Given the description of an element on the screen output the (x, y) to click on. 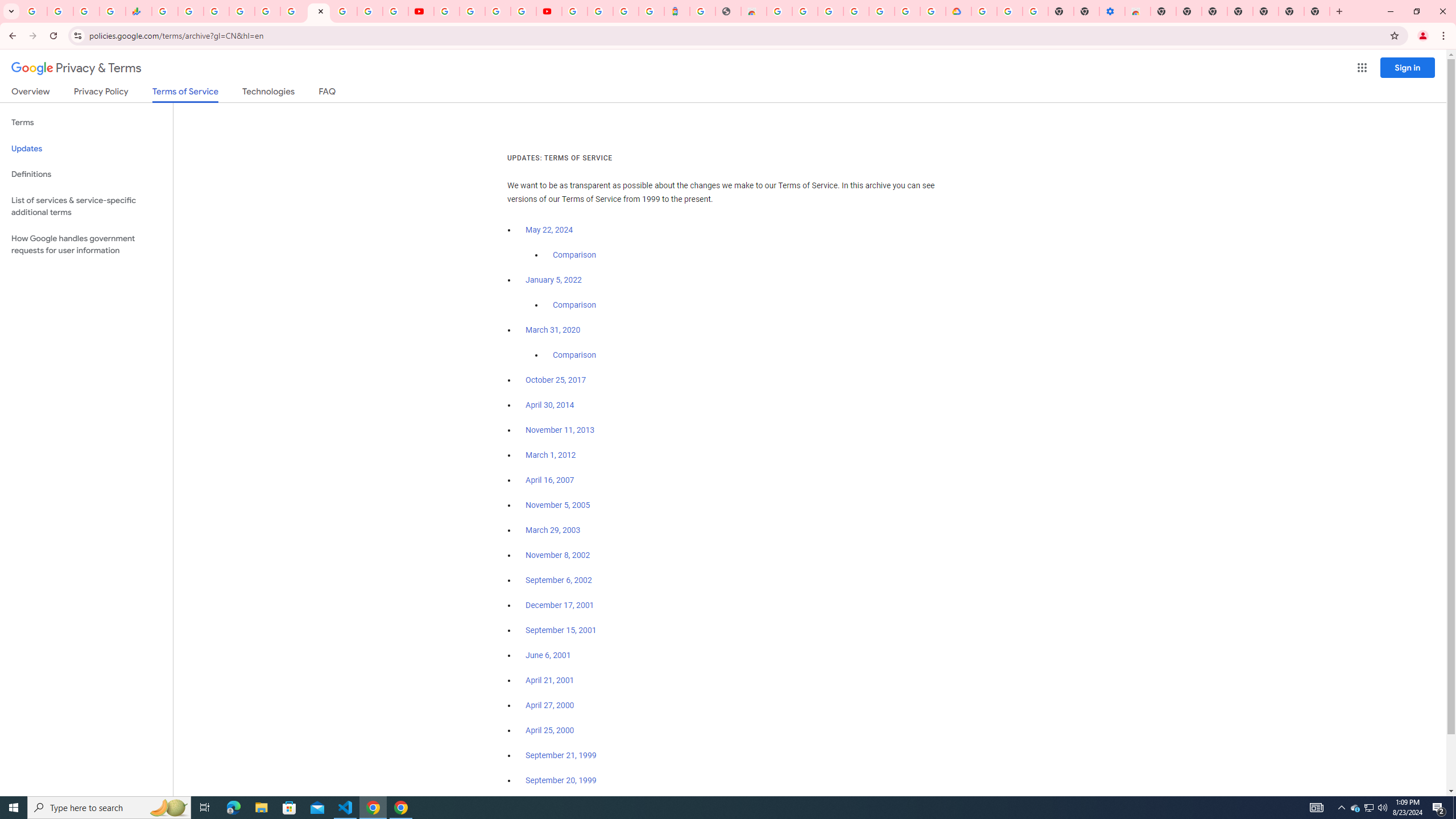
Privacy Checkup (395, 11)
Sign in - Google Accounts (242, 11)
March 1, 2012 (550, 455)
Google Workspace Admin Community (34, 11)
September 15, 2001 (560, 629)
Google Account Help (1009, 11)
